Given the description of an element on the screen output the (x, y) to click on. 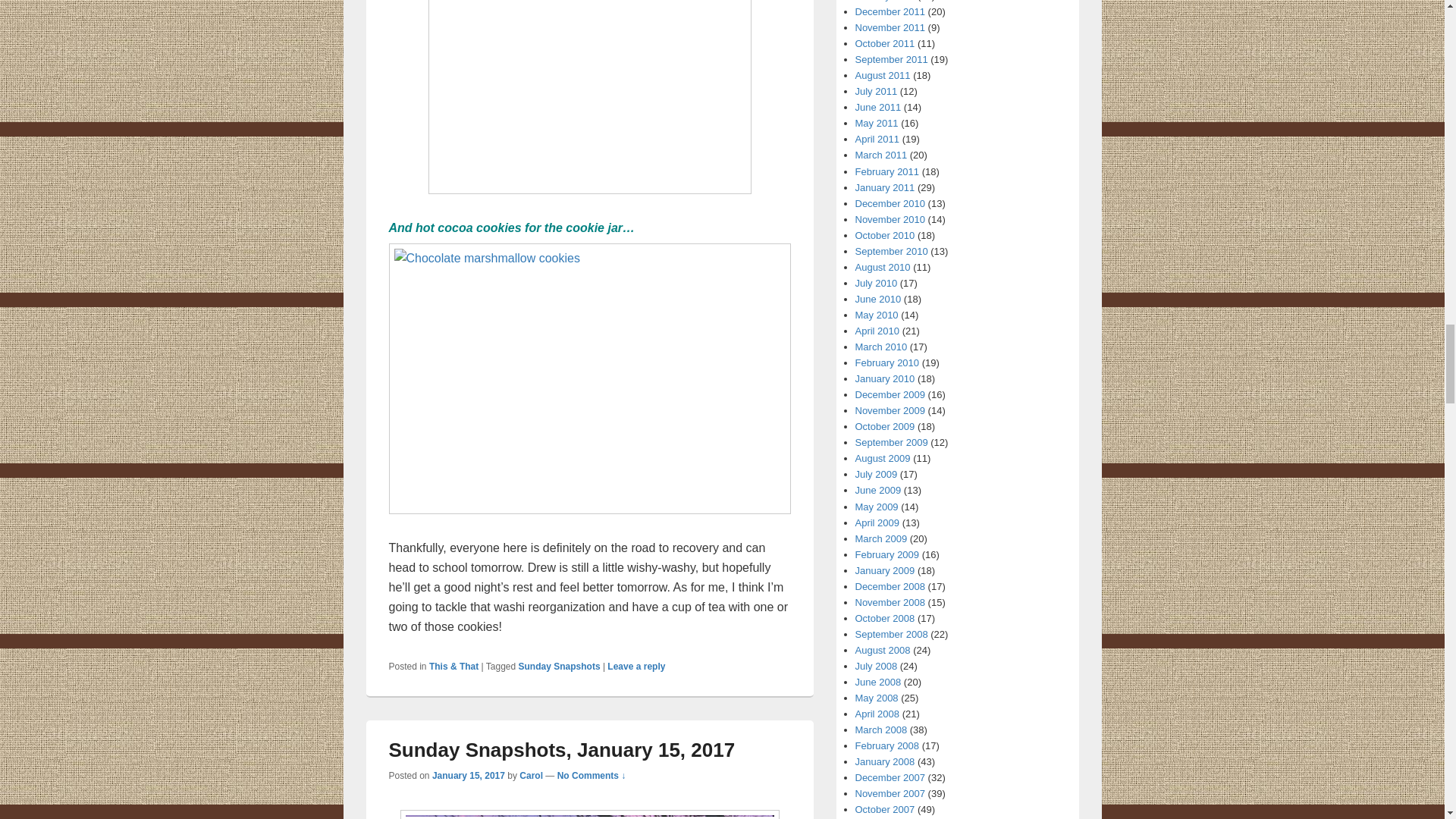
Leave a reply (636, 665)
View all posts by Carol (531, 775)
Permalink to Sunday Snapshots, January 15, 2017 (561, 749)
January 15, 2017 (468, 775)
Chocolate marshmallow cookies (589, 389)
6:58 pm (468, 775)
Chicken noodle soup (589, 107)
Sunday Snapshots (558, 665)
Carol (531, 775)
Sunday Snapshots, January 15, 2017 (561, 749)
